Given the description of an element on the screen output the (x, y) to click on. 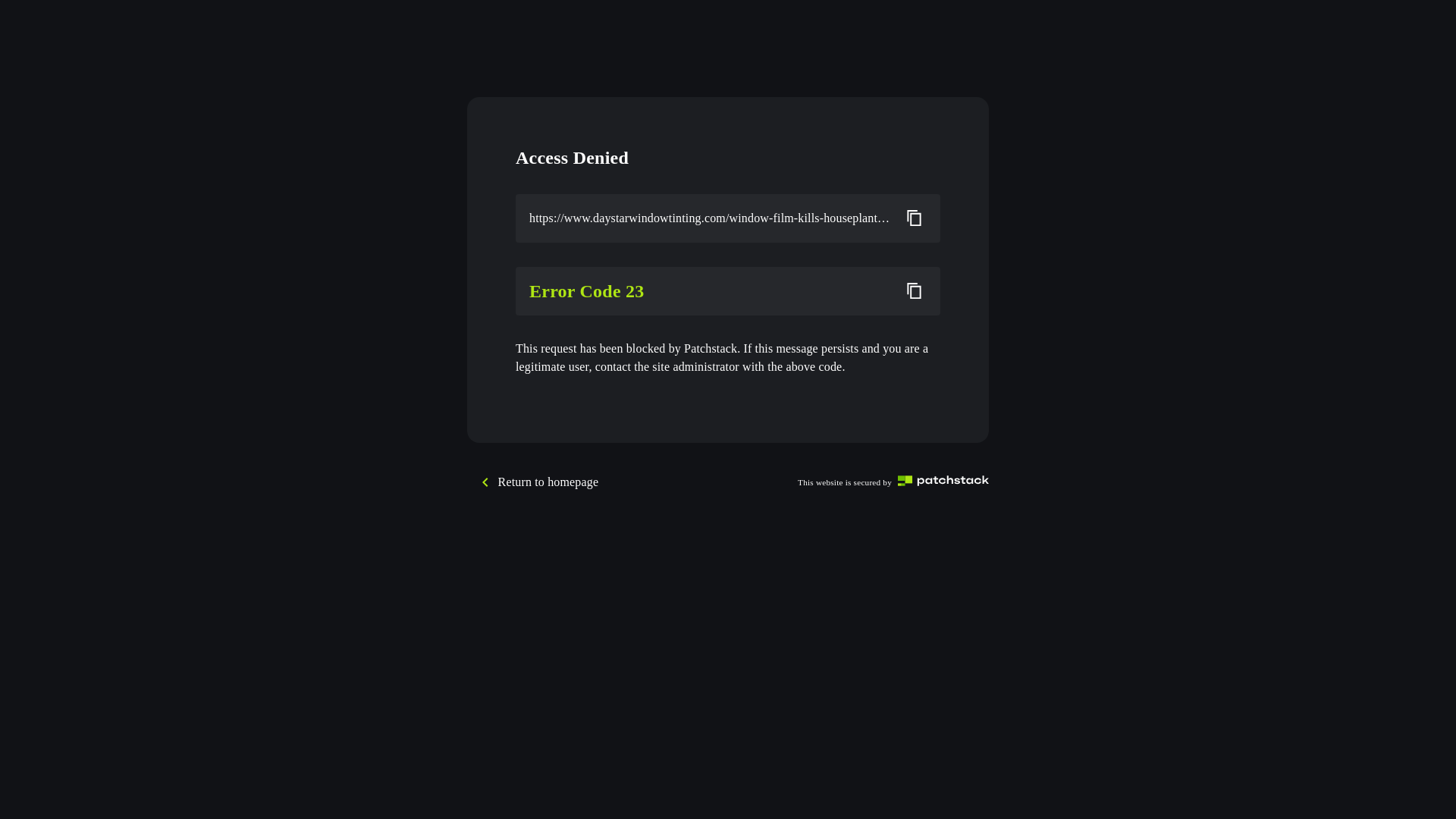
Error Code 23 (709, 290)
